Given the description of an element on the screen output the (x, y) to click on. 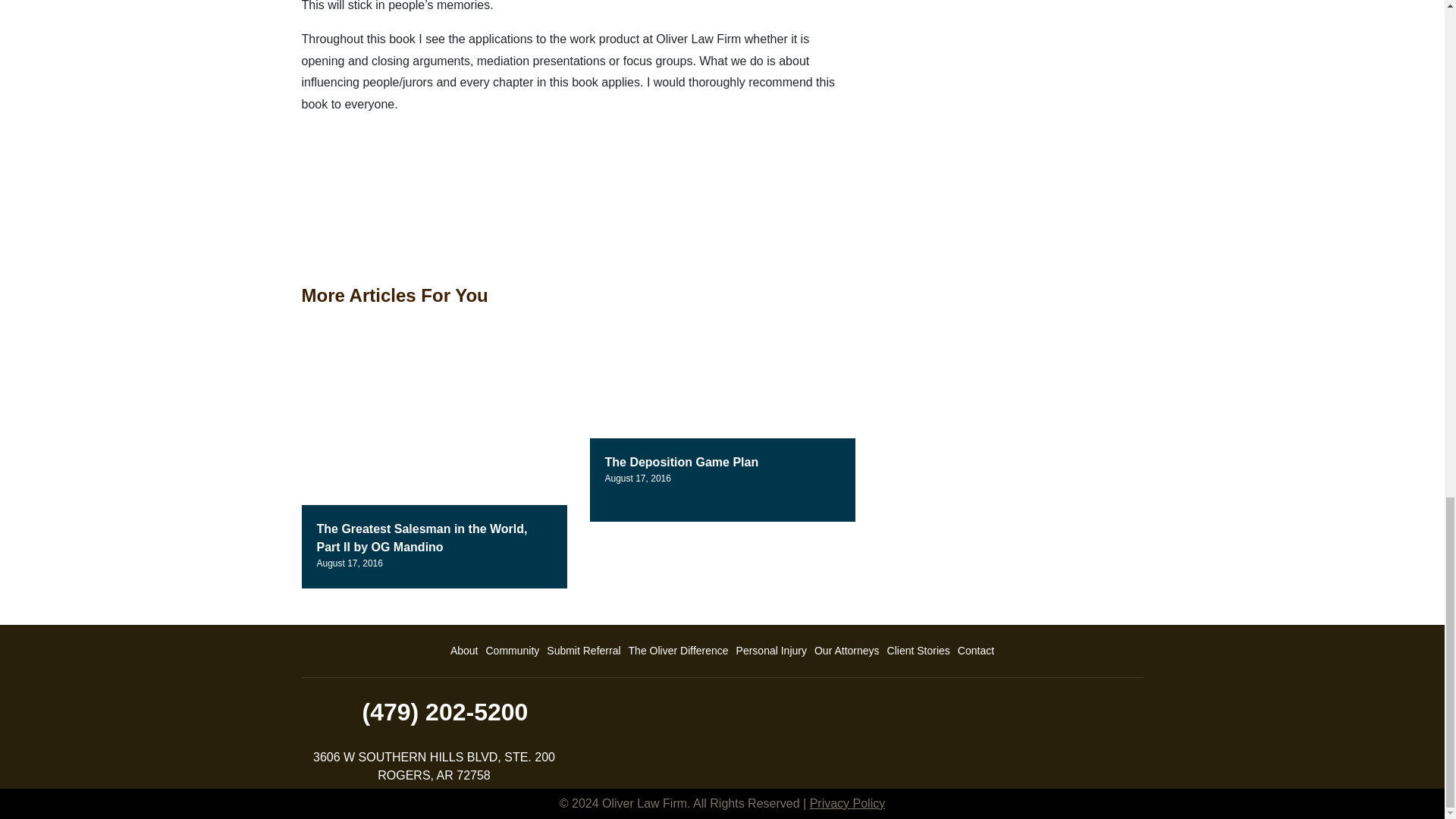
Personal Injury (771, 650)
Winston Churchill (415, 184)
Our Attorneys (846, 650)
The Deposition Game Plan (681, 461)
The Oliver Difference (678, 650)
About (463, 650)
Client Stories (918, 650)
Community (512, 650)
The Greatest Salesman in the World, Part II by OG Mandino (422, 537)
Submit Referral (583, 650)
